Given the description of an element on the screen output the (x, y) to click on. 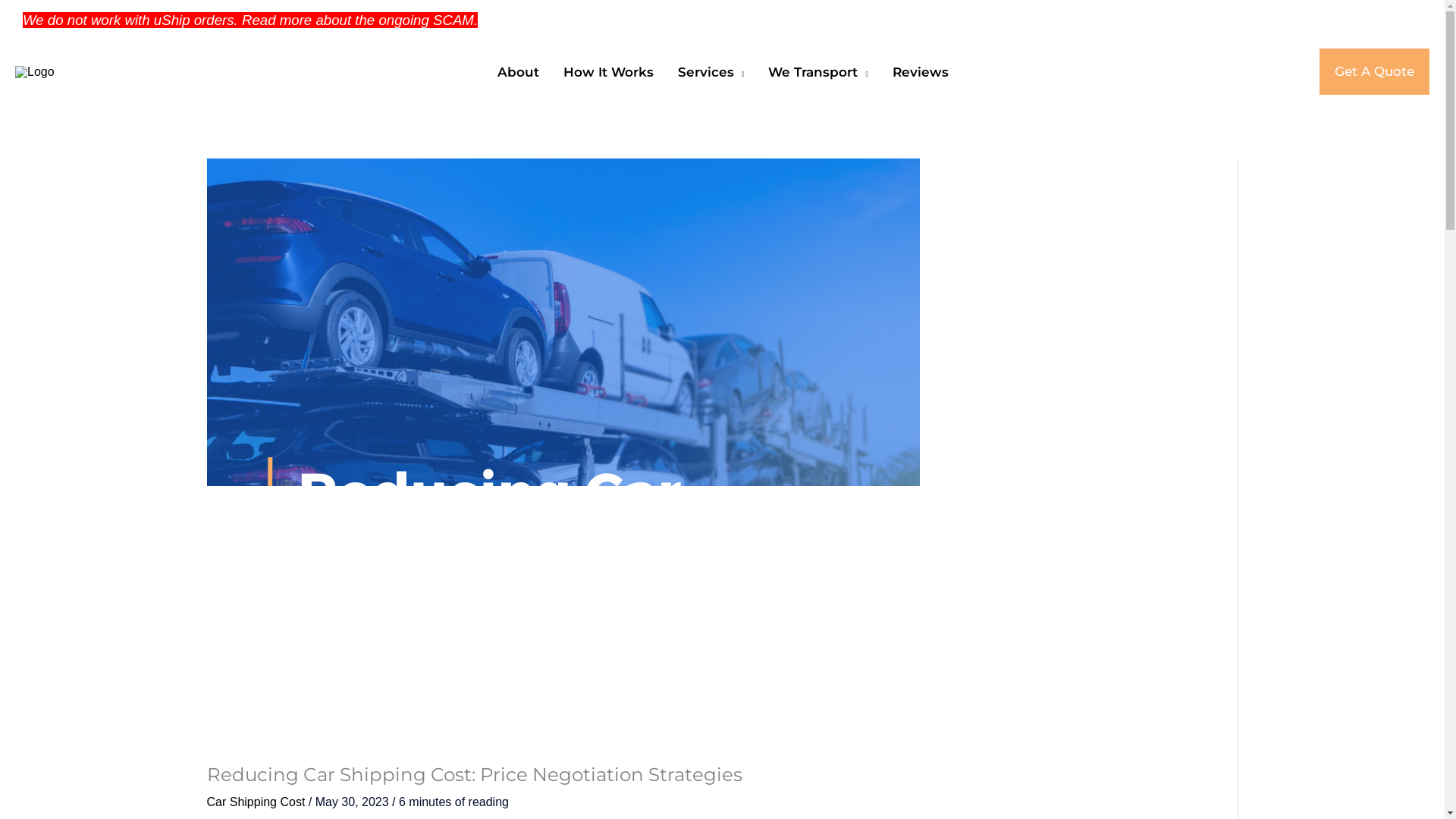
Get A Quote (1374, 71)
We Transport (817, 71)
How It Works (607, 71)
Blog (1157, 20)
Reviews (919, 71)
Help (1204, 20)
Services (710, 71)
Contact Us (1268, 20)
